Given the description of an element on the screen output the (x, y) to click on. 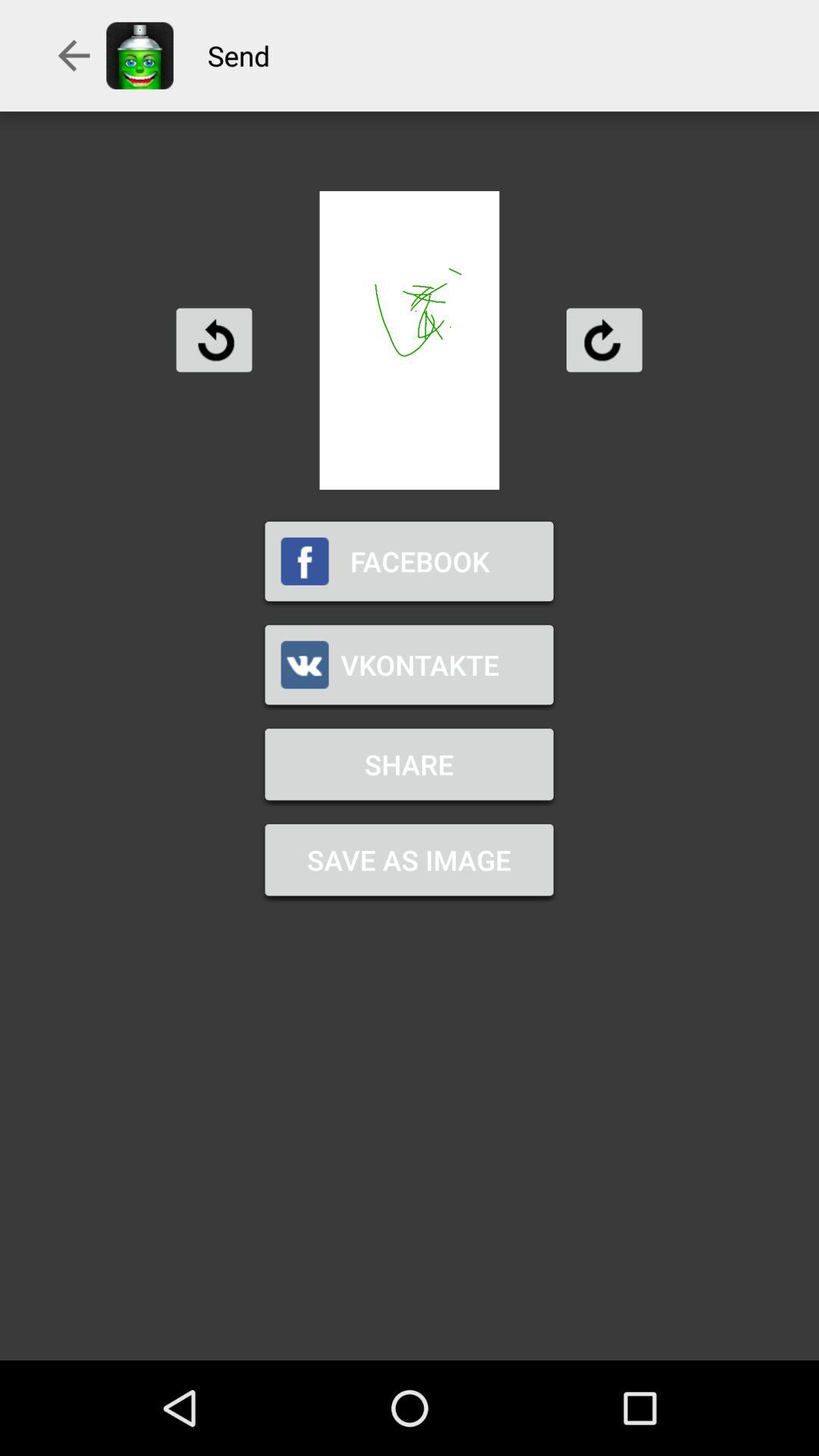
go previous (213, 339)
